Given the description of an element on the screen output the (x, y) to click on. 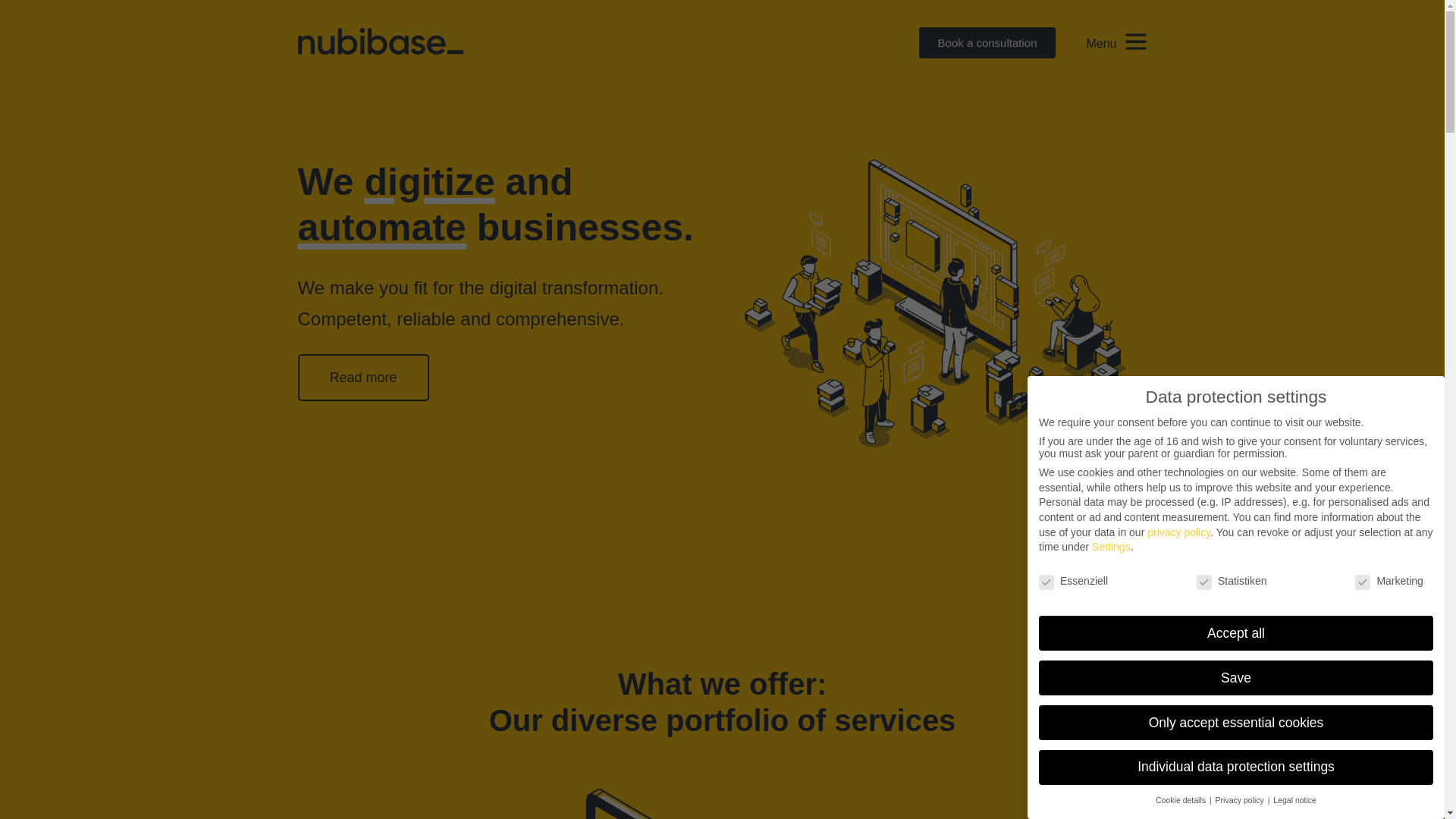
Read more (362, 377)
privacy policy (1178, 531)
Individual data protection settings (1235, 767)
Cookie details (1182, 799)
Menu (1101, 42)
Accept all (1235, 632)
Settings (1111, 546)
Save (1235, 677)
Legal notice (1294, 799)
Privacy policy (1240, 799)
Book a consultation (987, 42)
Only accept essential cookies (1235, 722)
